Given the description of an element on the screen output the (x, y) to click on. 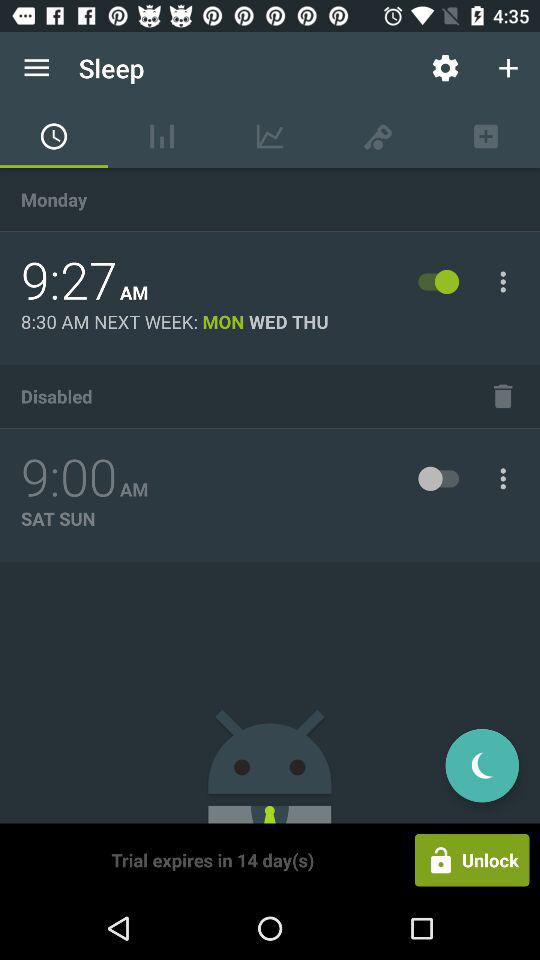
go to bookmark (503, 396)
